Given the description of an element on the screen output the (x, y) to click on. 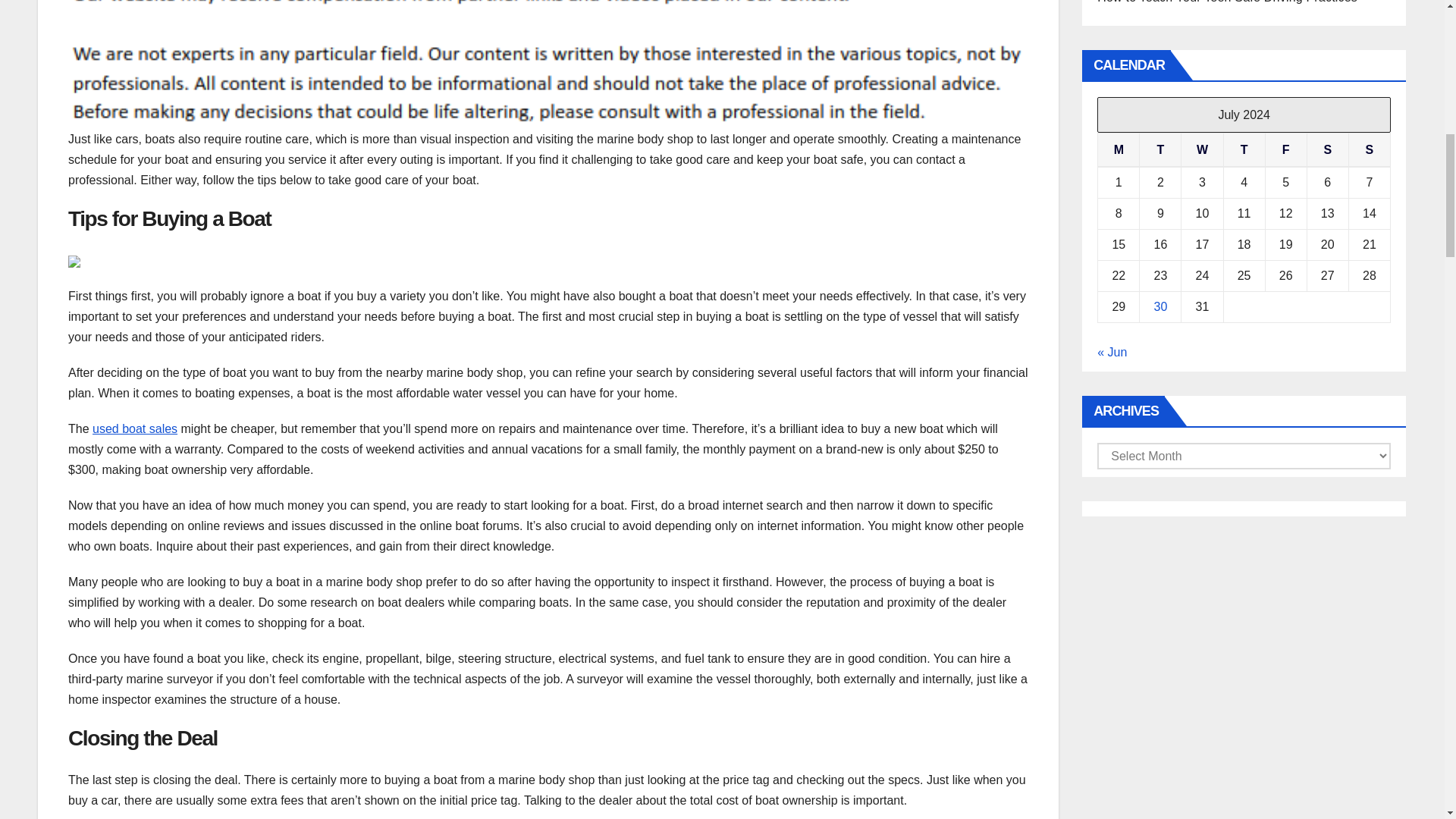
Tuesday (1160, 150)
Saturday (1327, 150)
Monday (1118, 150)
used boat sales (135, 428)
Friday (1285, 150)
Thursday (1244, 150)
Sunday (1369, 150)
Wednesday (1201, 150)
